Given the description of an element on the screen output the (x, y) to click on. 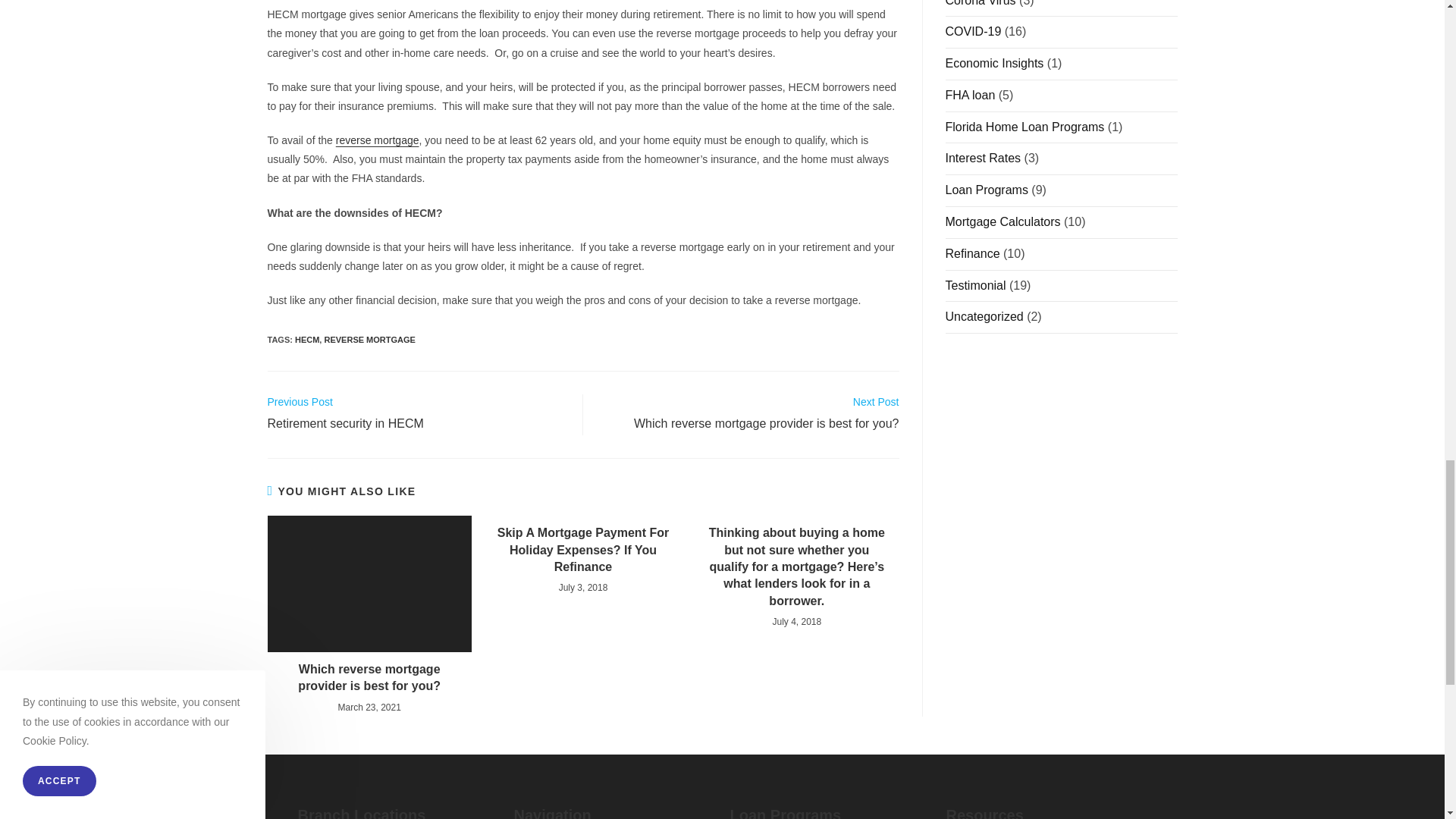
reverse mortgage (416, 413)
REVERSE MORTGAGE (377, 140)
HECM (368, 338)
Which reverse mortgage provider is best for you? (306, 338)
